Given the description of an element on the screen output the (x, y) to click on. 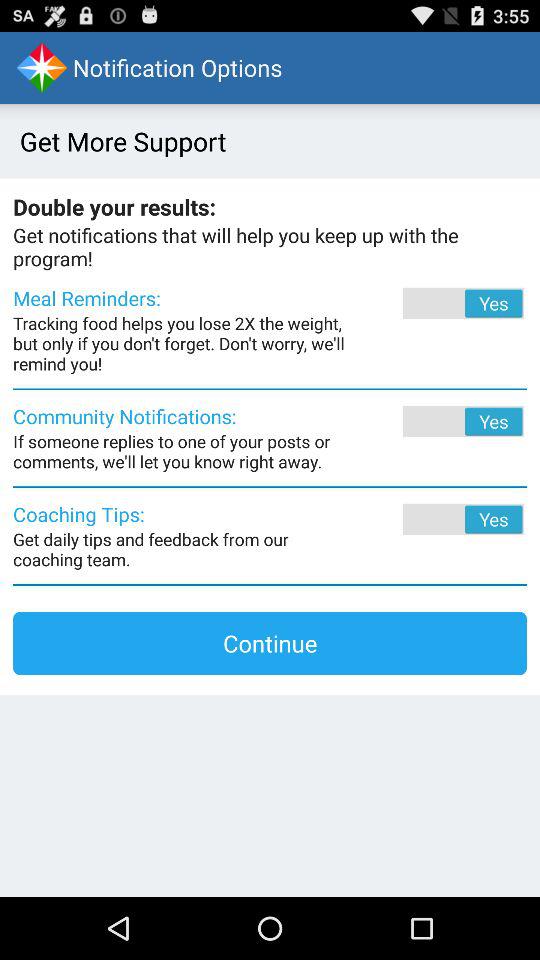
toggle meal reminders (436, 303)
